Given the description of an element on the screen output the (x, y) to click on. 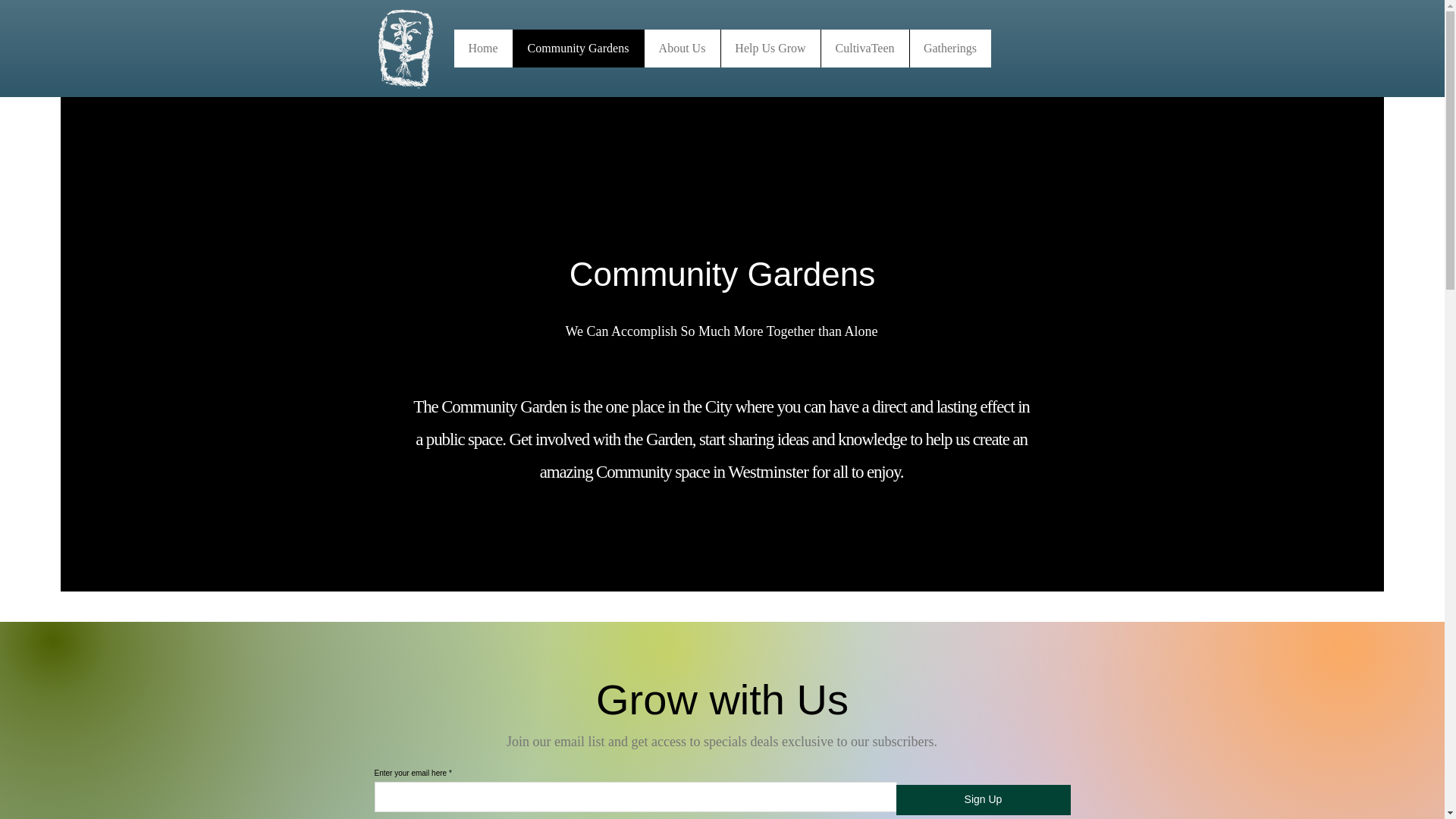
Home (482, 48)
Community Gardens (577, 48)
Gatherings (949, 48)
Help Us Grow (770, 48)
CultivaTeen (864, 48)
Sign Up (983, 799)
About Us (681, 48)
